Given the description of an element on the screen output the (x, y) to click on. 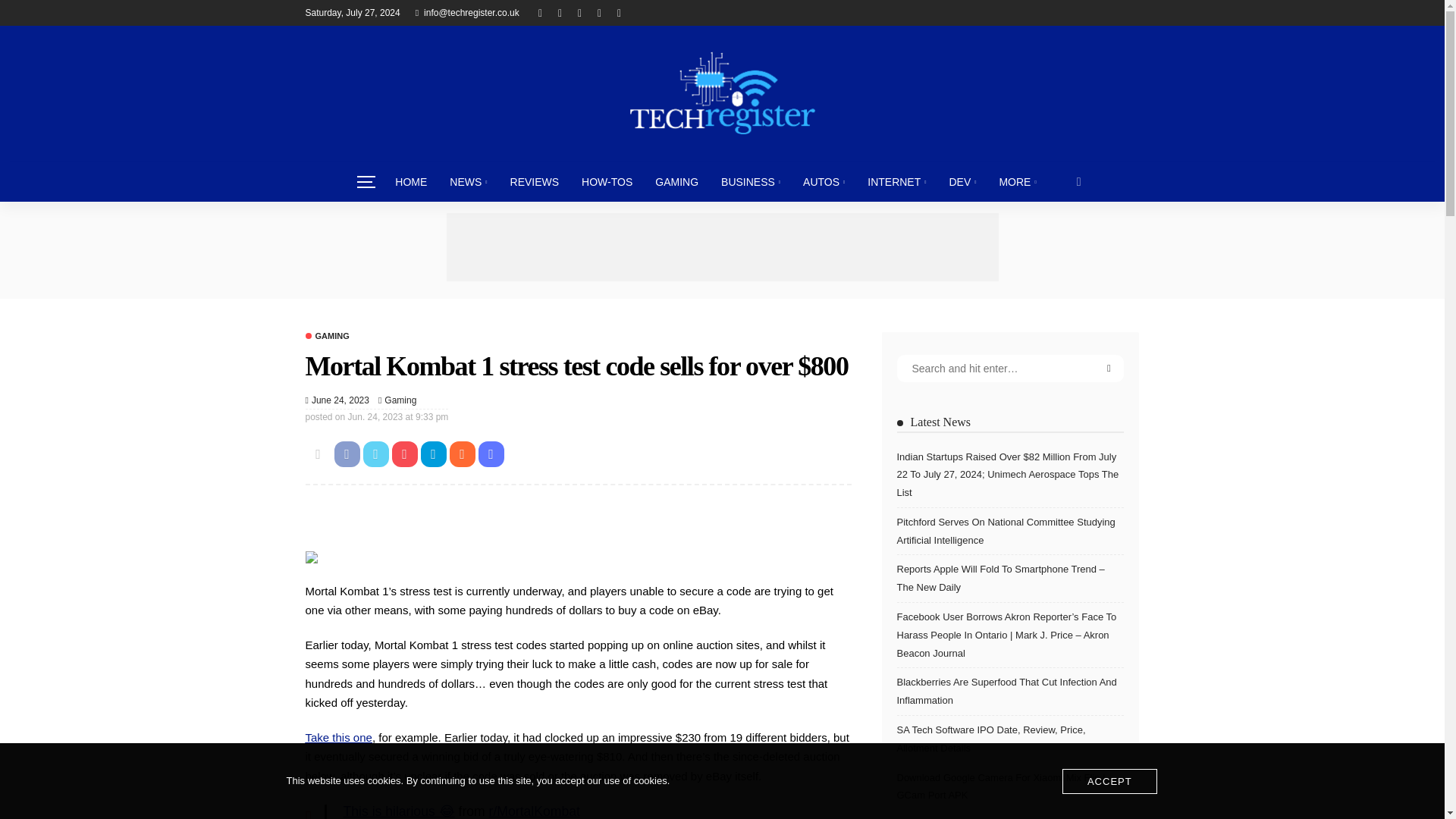
Gaming (400, 400)
instagram (599, 12)
Gaming (326, 336)
Techregister (721, 93)
pinterest (579, 12)
twitter (560, 12)
linkedin (619, 12)
search (1079, 181)
facebook (540, 12)
